Given the description of an element on the screen output the (x, y) to click on. 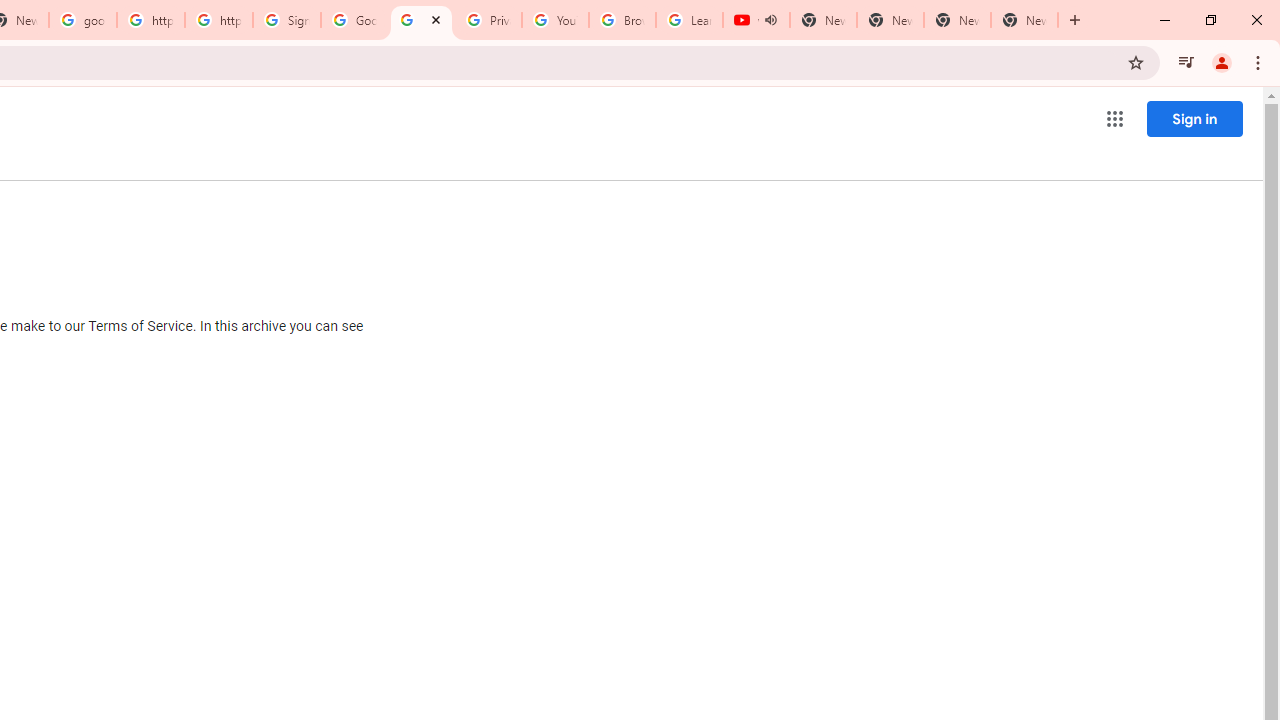
Control your music, videos, and more (1185, 62)
YouTube (555, 20)
